Given the description of an element on the screen output the (x, y) to click on. 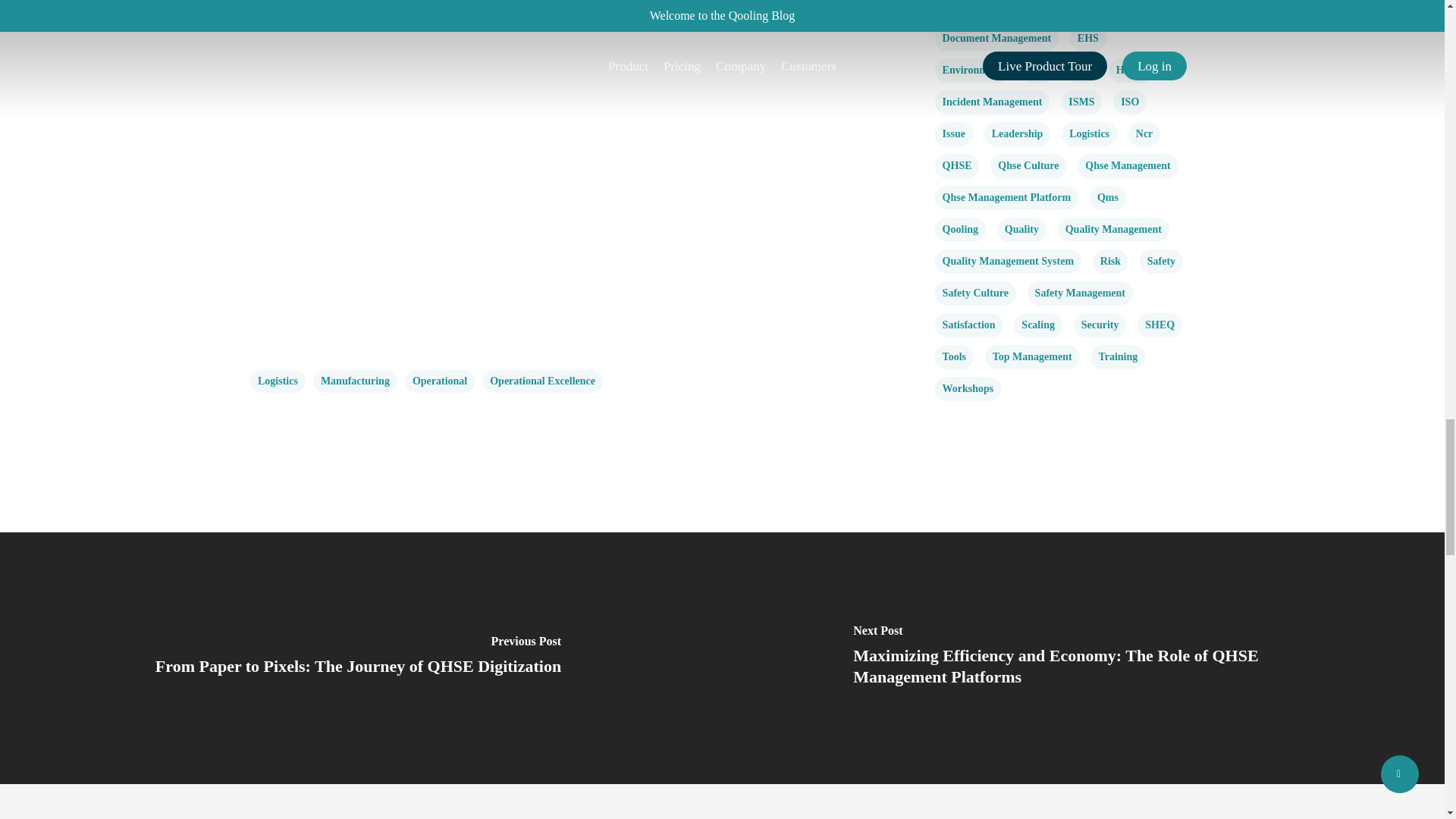
Operational (439, 381)
Logistics (277, 381)
Manufacturing (355, 381)
Operational Excellence (541, 381)
